Given the description of an element on the screen output the (x, y) to click on. 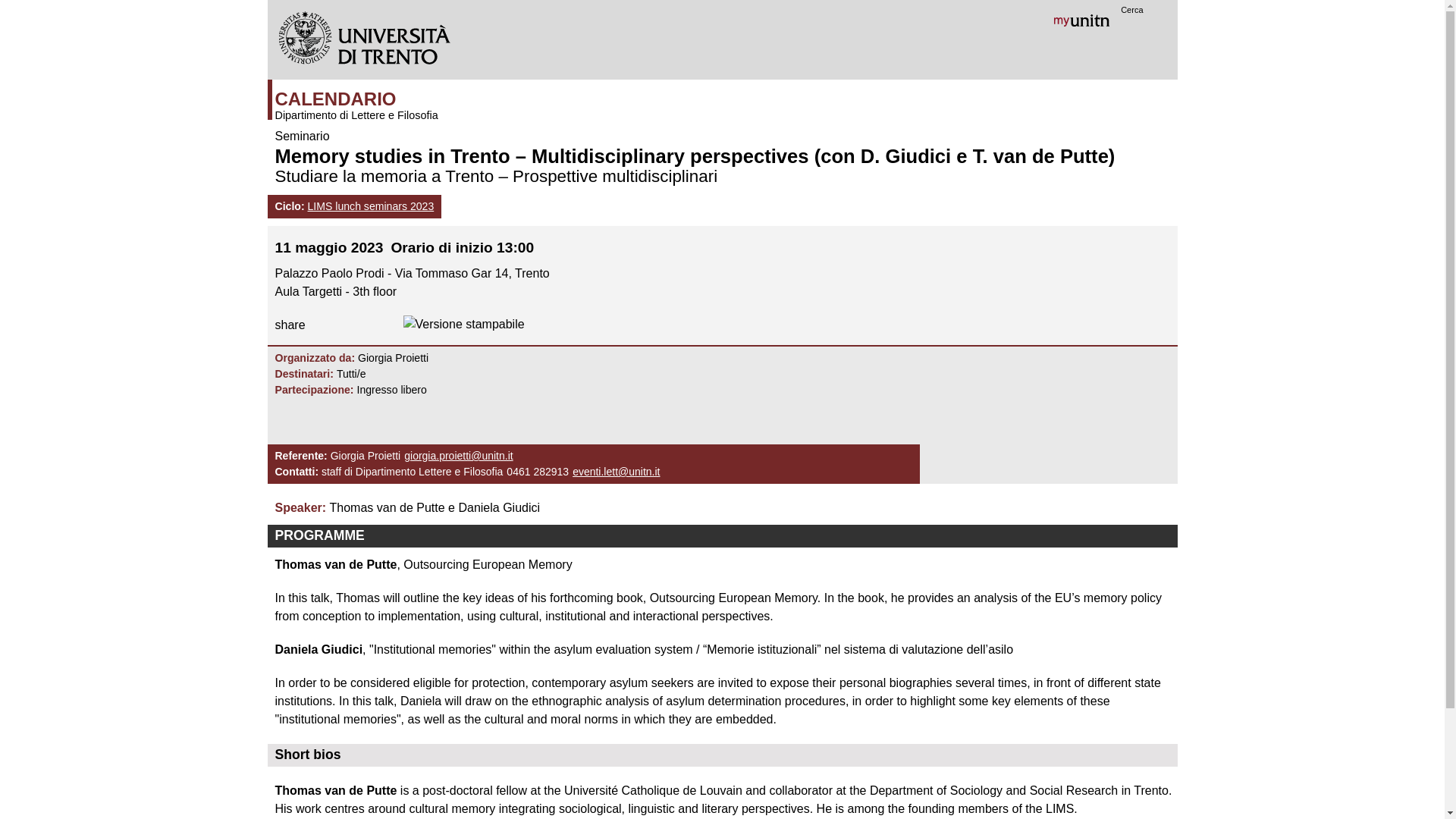
CALENDARIO (589, 92)
LinkedIn (352, 324)
Share to Facebook (320, 324)
Share to LinkedIn (352, 324)
Versione stampabile (463, 324)
Facebook (320, 324)
Share to Twitter (384, 324)
Salta al contenuto principale (692, 1)
Twitter (384, 324)
Cerca (1133, 9)
